Given the description of an element on the screen output the (x, y) to click on. 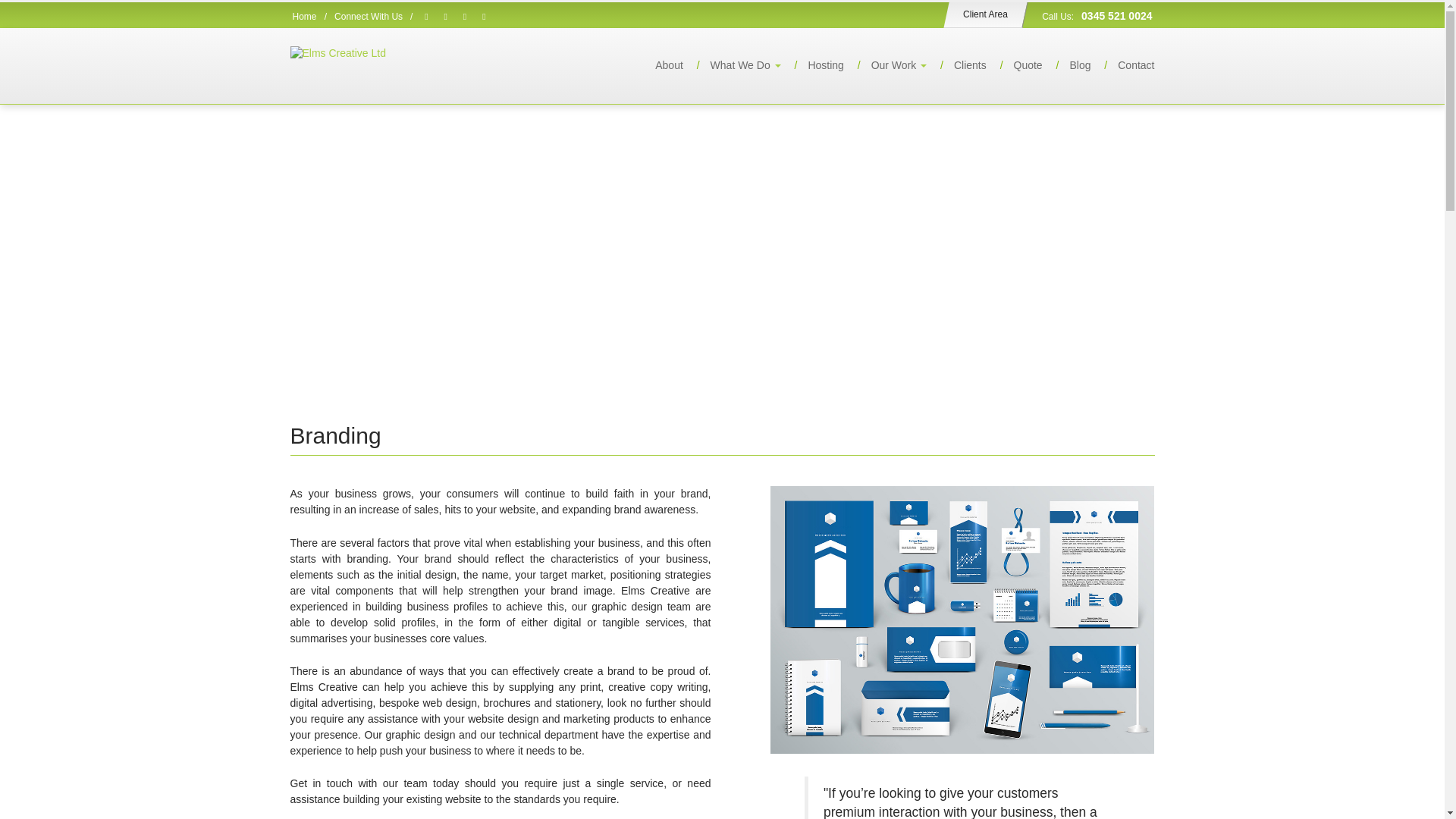
Hosting (813, 65)
What We Do (732, 65)
Client Area (982, 14)
Home (305, 16)
Our Work (886, 65)
Blog (1067, 65)
Contact (1123, 65)
Clients (958, 65)
Quote (1016, 65)
About (657, 65)
